Given the description of an element on the screen output the (x, y) to click on. 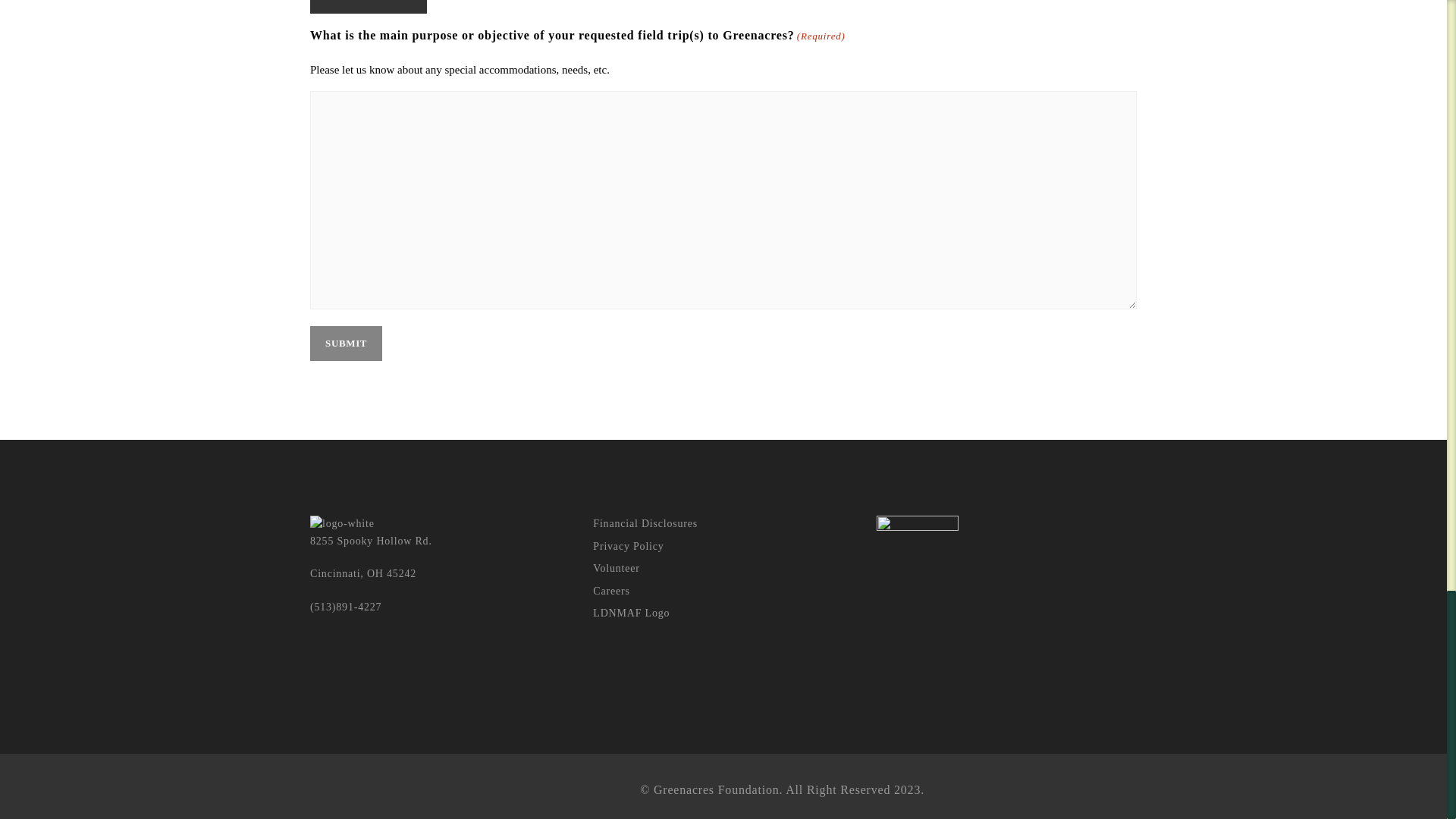
Submit (345, 343)
